Given the description of an element on the screen output the (x, y) to click on. 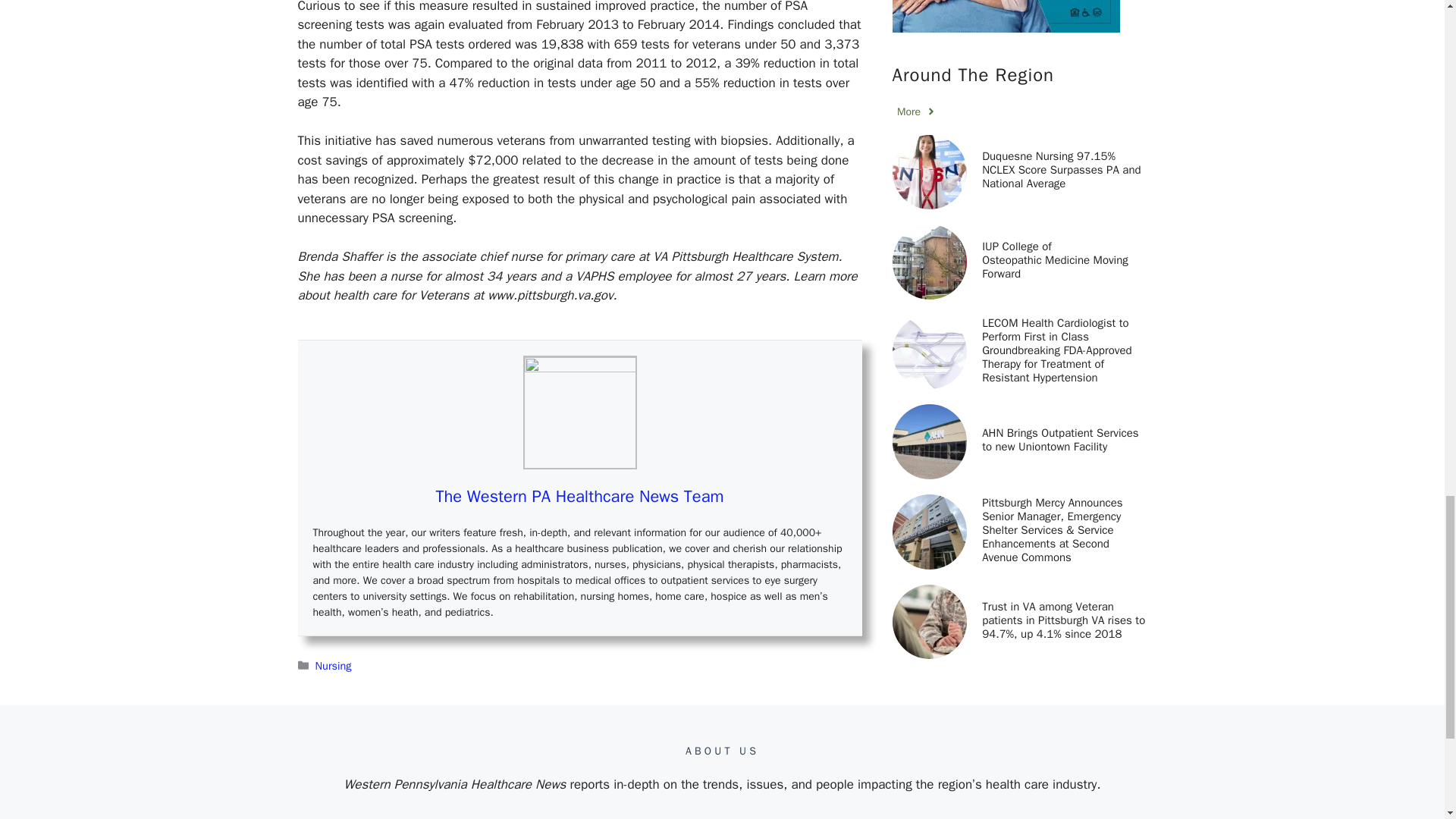
The Western PA Healthcare News Team (579, 496)
Nursing (333, 665)
